Given the description of an element on the screen output the (x, y) to click on. 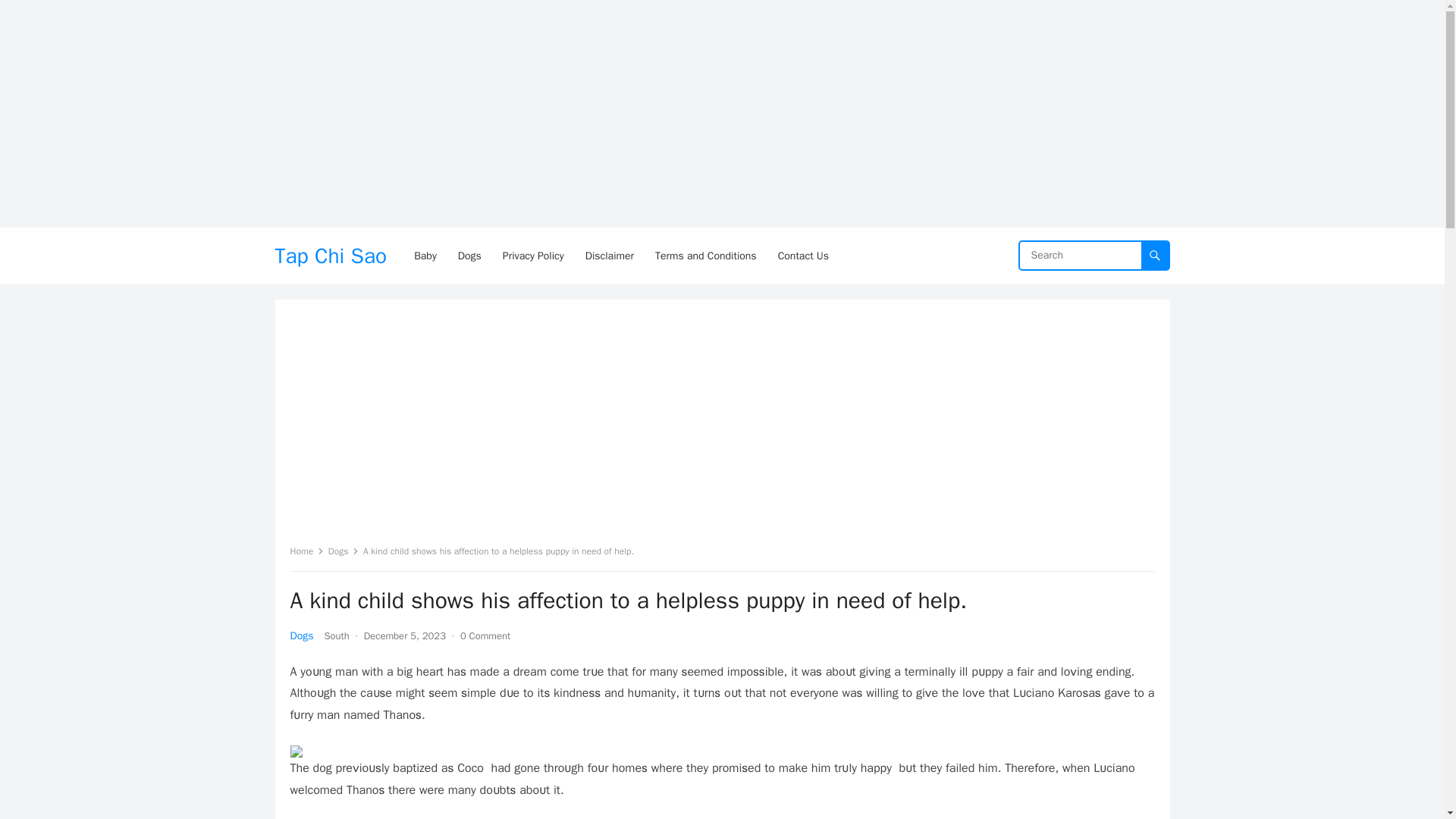
Disclaimer (609, 255)
Dogs (344, 551)
Dogs (301, 635)
Contact Us (803, 255)
Terms and Conditions (705, 255)
South (336, 635)
Privacy Policy (533, 255)
Tap Chi Sao (331, 255)
Home (306, 551)
0 Comment (485, 635)
Posts by South (336, 635)
